Given the description of an element on the screen output the (x, y) to click on. 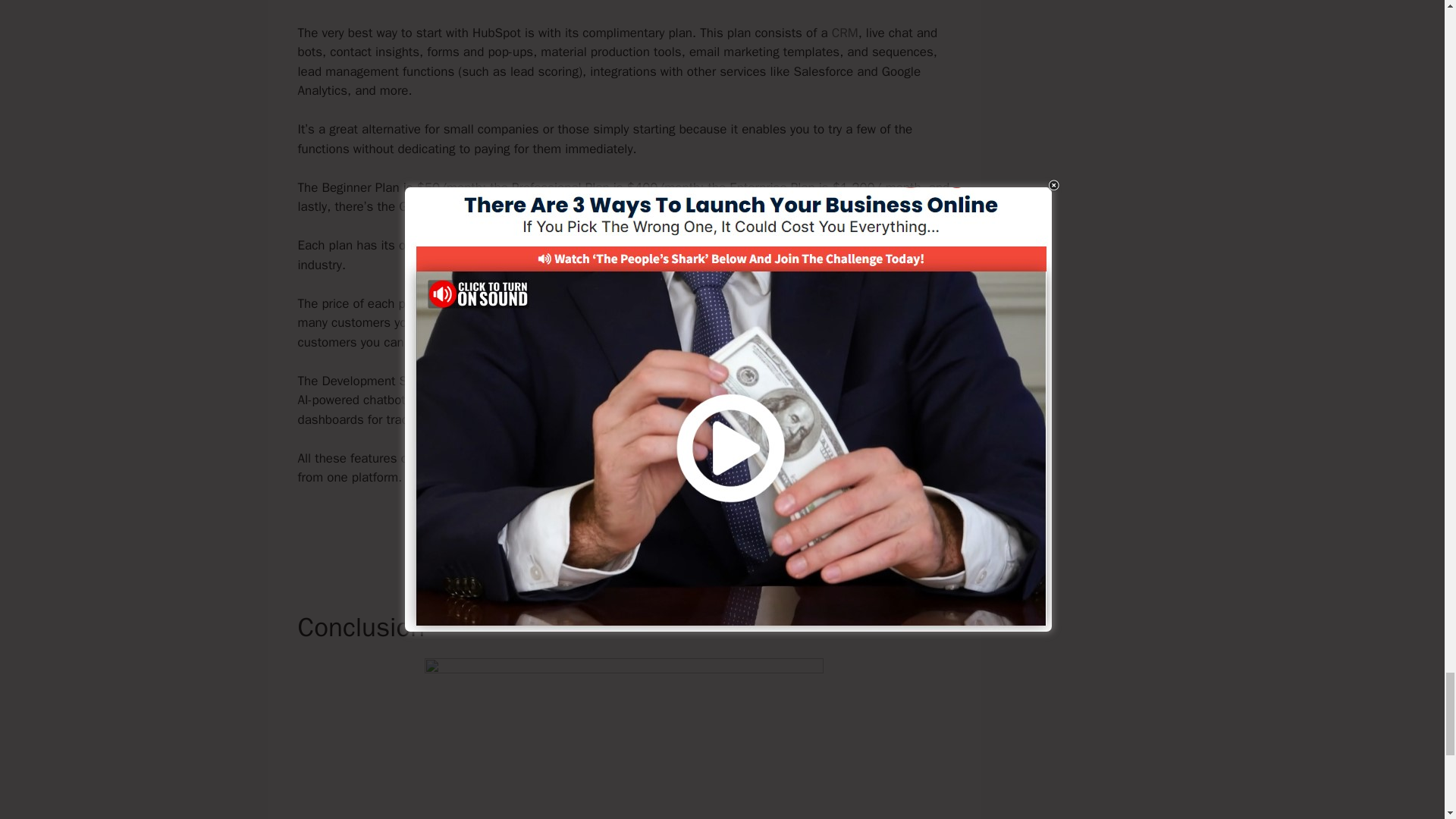
CRM (845, 32)
Claim Your HubSpot Free Trial Now (624, 529)
